Given the description of an element on the screen output the (x, y) to click on. 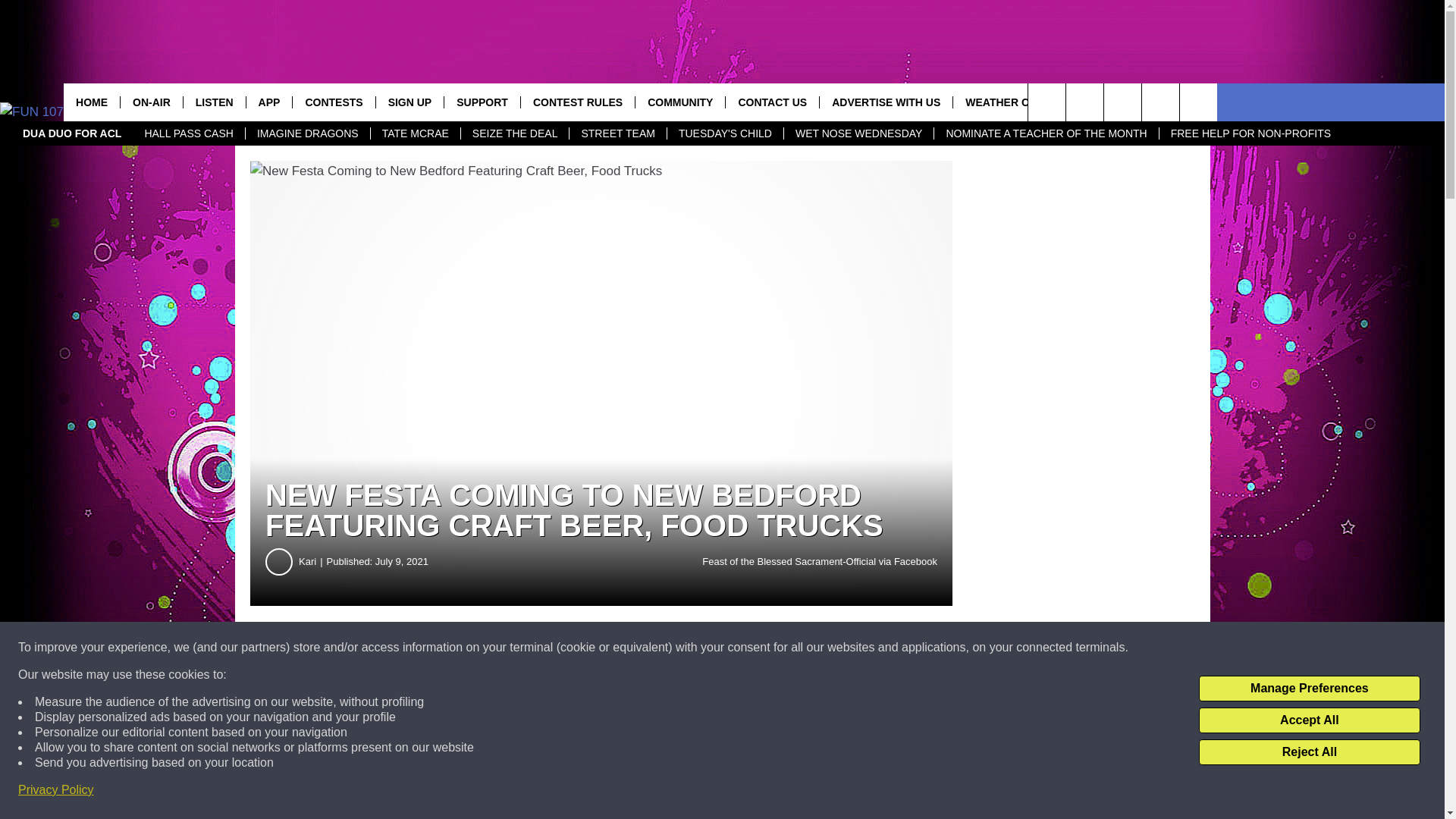
FREE HELP FOR NON-PROFITS (1250, 133)
WET NOSE WEDNESDAY (858, 133)
ON-AIR (151, 102)
Share on Facebook (460, 647)
DUA DUO FOR ACL (71, 133)
HOME (91, 102)
SEIZE THE DEAL (514, 133)
TUESDAY'S CHILD (724, 133)
Reject All (1309, 751)
NOMINATE A TEACHER OF THE MONTH (1045, 133)
Accept All (1309, 720)
Share on Twitter (741, 647)
Privacy Policy (55, 789)
Manage Preferences (1309, 688)
TATE MCRAE (414, 133)
